Given the description of an element on the screen output the (x, y) to click on. 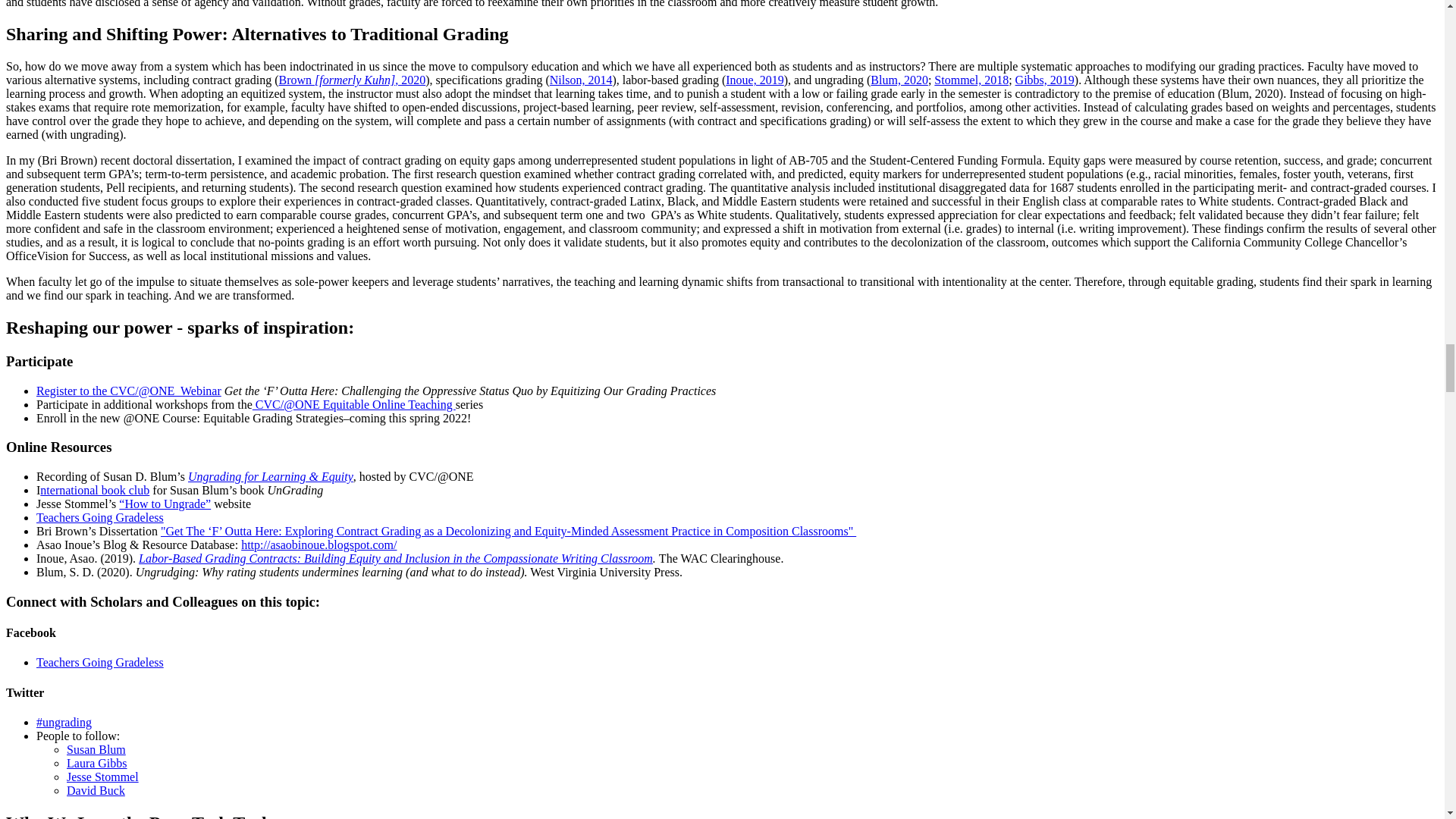
Stommel, 2018 (971, 79)
Nilson, 2014 (581, 79)
Inoue, 2019 (754, 79)
Blum, 2020 (899, 79)
Gibbs, 2019 (1044, 79)
